Given the description of an element on the screen output the (x, y) to click on. 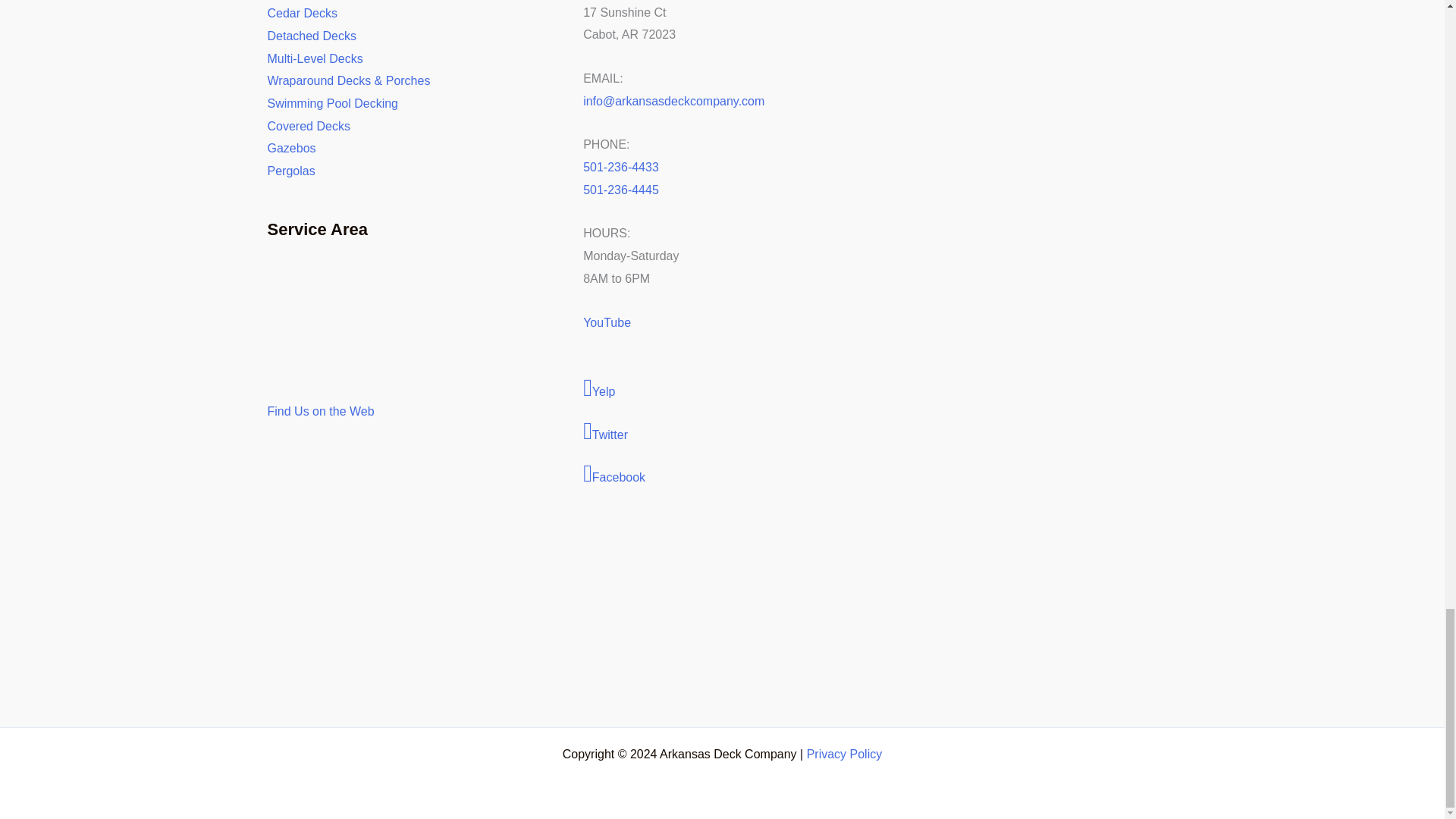
Visit Arkansas Deck Company on Facebook (722, 474)
Visit Arkansas Deck Company on Yelp (722, 389)
Visit Arkansas Deck Company on Twitter (722, 432)
